Given the description of an element on the screen output the (x, y) to click on. 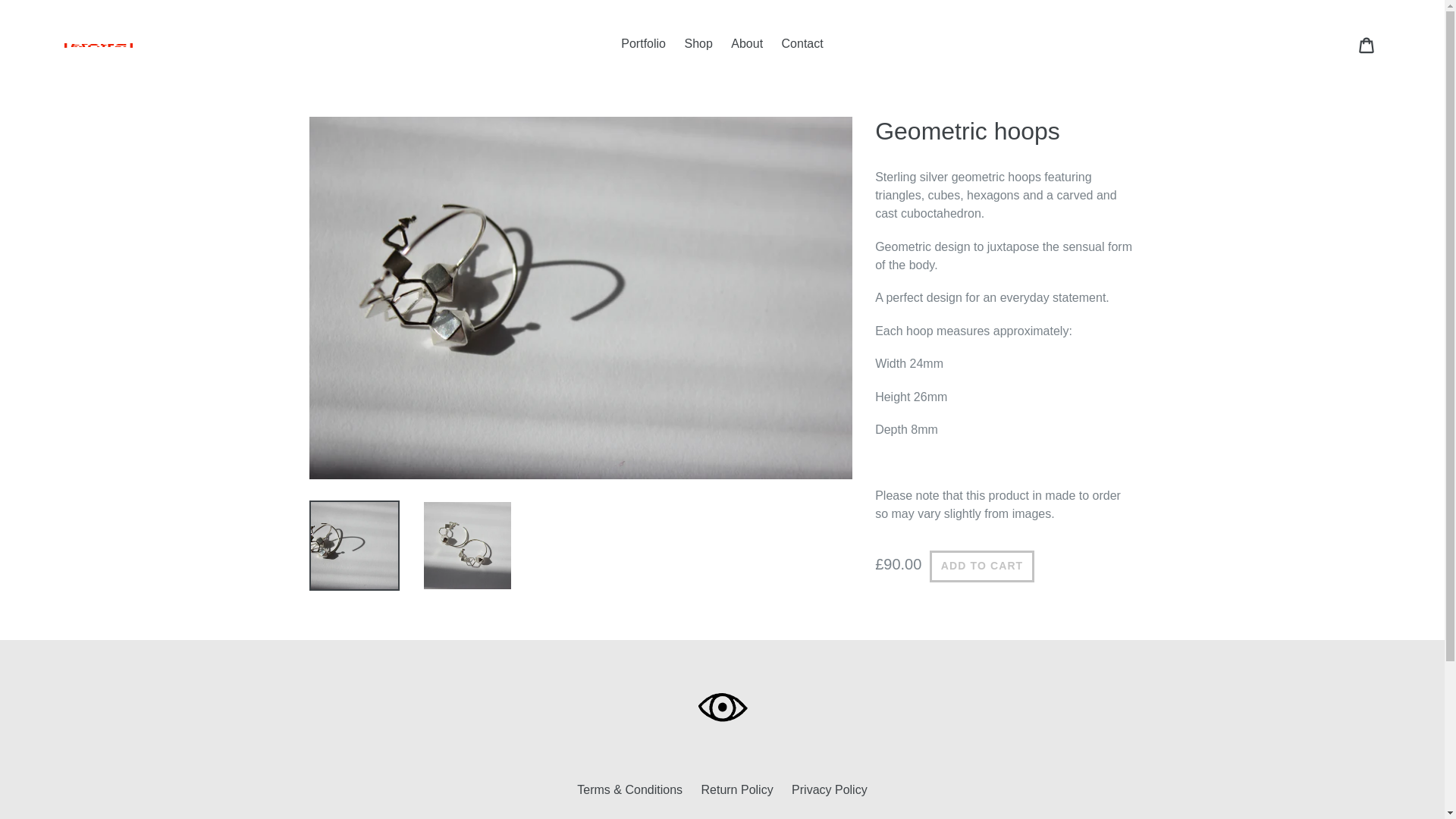
Return Policy (736, 789)
ADD TO CART (981, 566)
Shop (698, 43)
About (746, 43)
Contact (802, 43)
Portfolio (642, 43)
Privacy Policy (829, 789)
